Given the description of an element on the screen output the (x, y) to click on. 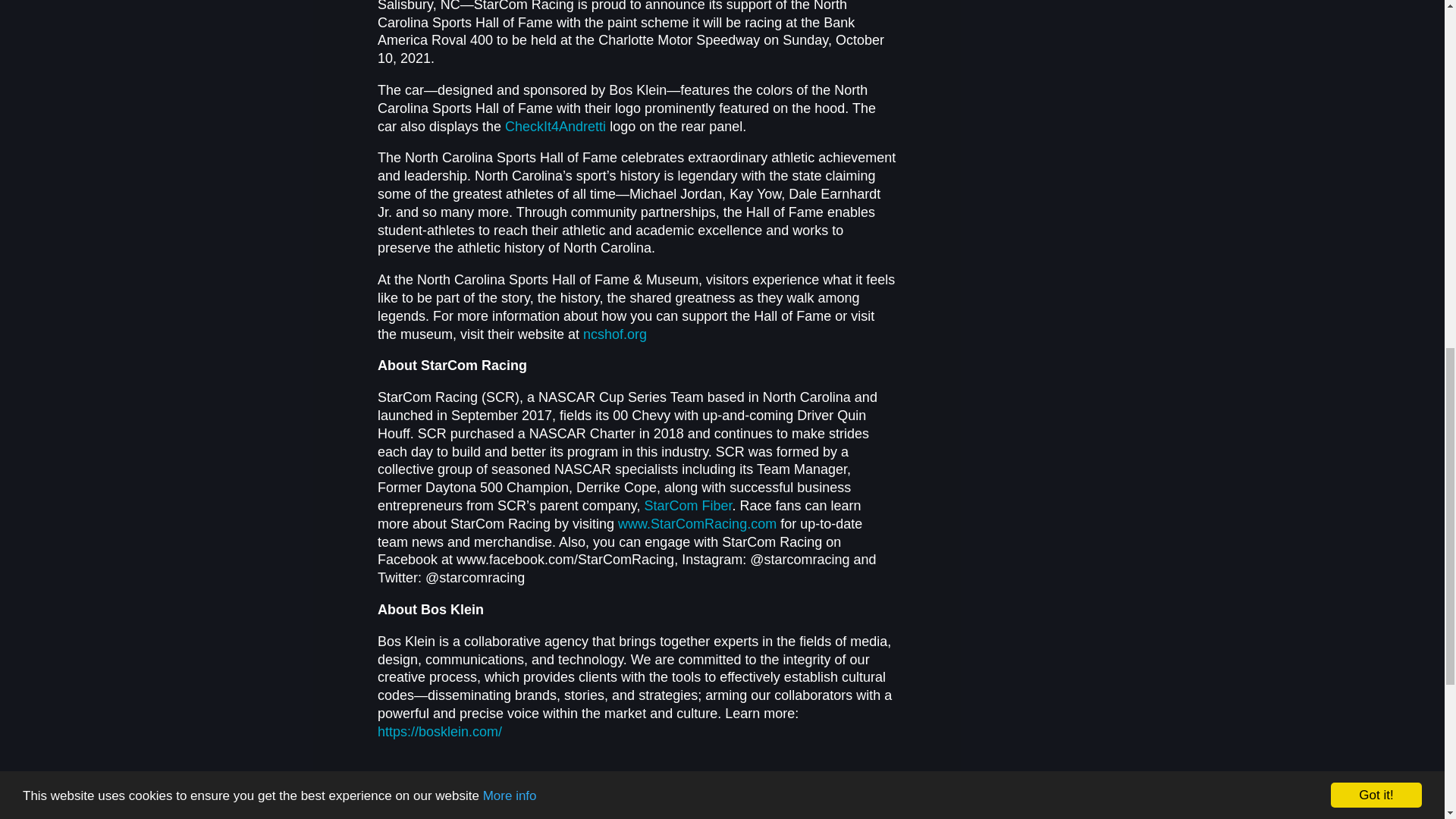
ncshof.org (614, 334)
StarCom Fiber (687, 505)
www.StarComRacing.com (696, 523)
CheckIt4Andretti (555, 126)
